Given the description of an element on the screen output the (x, y) to click on. 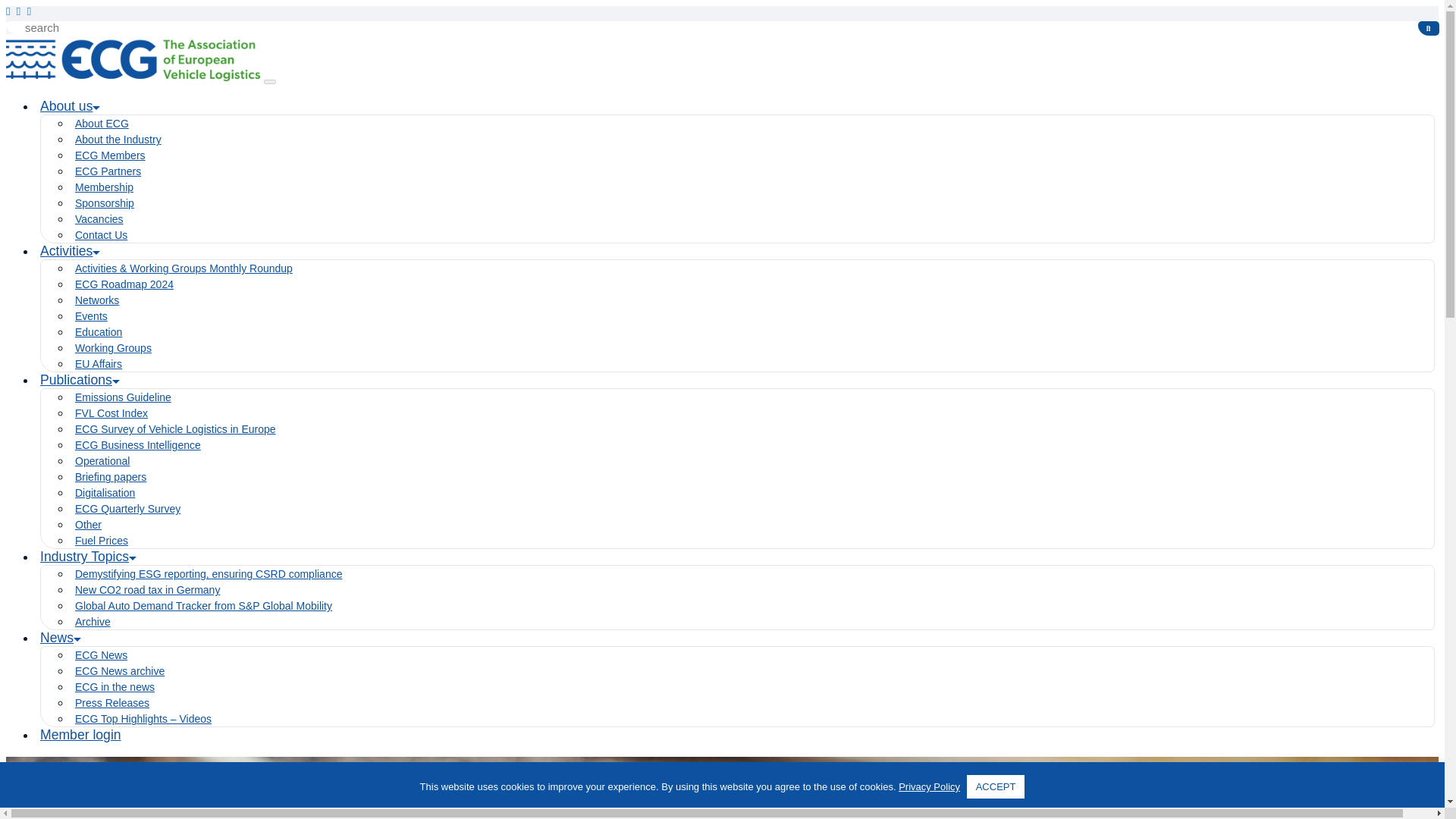
Vacancies (99, 218)
Contact Us (101, 234)
Membership (104, 186)
About ECG (102, 123)
Sponsorship (104, 203)
ECG Partners (108, 171)
Events (91, 316)
About ECG (102, 123)
About the Industry (118, 139)
ECG Partners (108, 171)
Activities (70, 250)
ECG Members (110, 155)
About the Industry (118, 139)
ECG Roadmap 2024 (124, 284)
ECG Roadmap 2024 (124, 284)
